Given the description of an element on the screen output the (x, y) to click on. 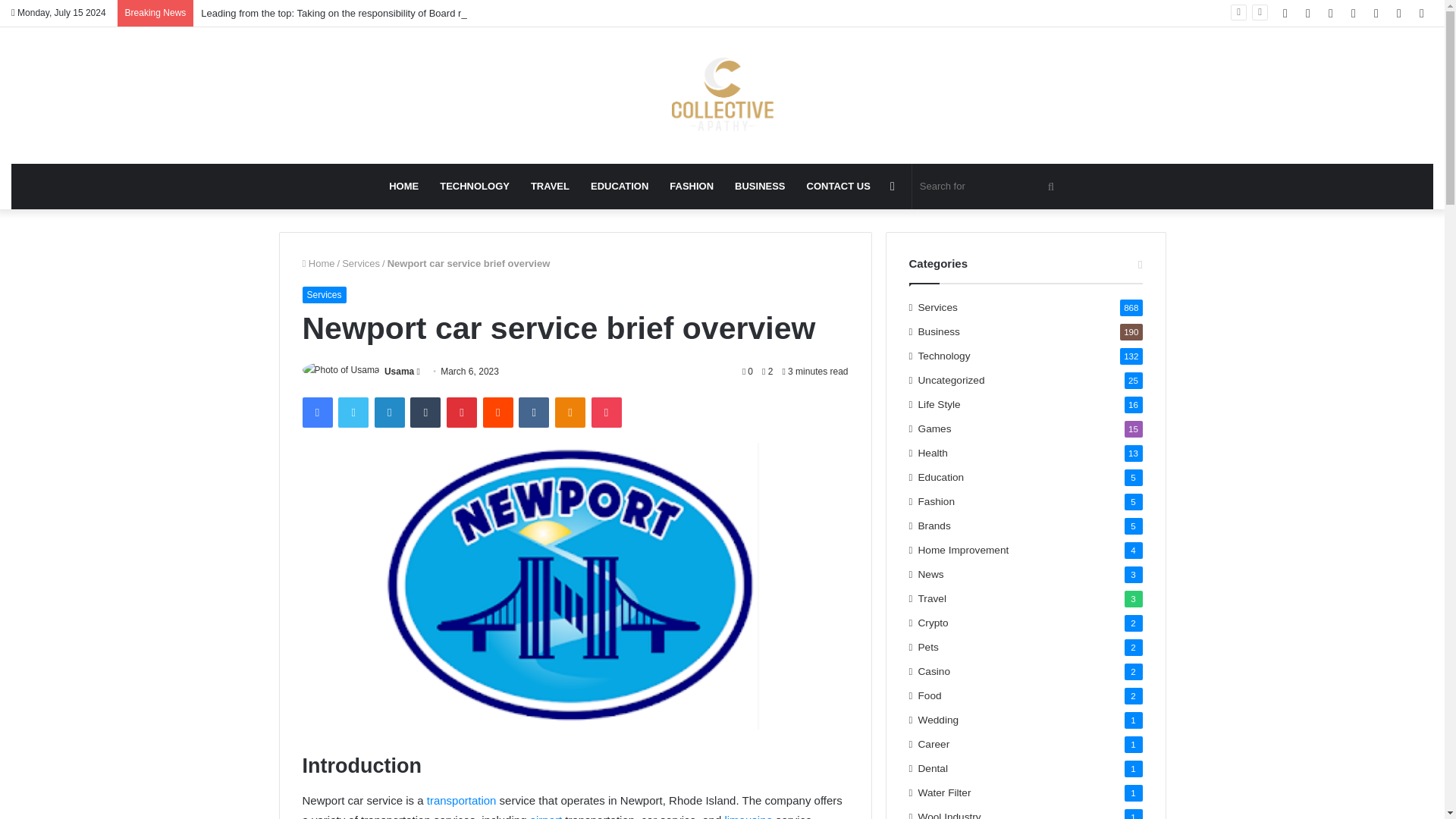
Pinterest (461, 412)
VKontakte (533, 412)
BUSINESS (758, 186)
Reddit (498, 412)
Pocket (606, 412)
Twitter (352, 412)
FASHION (691, 186)
Tumblr (425, 412)
VKontakte (533, 412)
collective apathy (721, 95)
transportation (462, 799)
Services (323, 294)
Usama (398, 371)
limousine (749, 816)
Search for (988, 186)
